Given the description of an element on the screen output the (x, y) to click on. 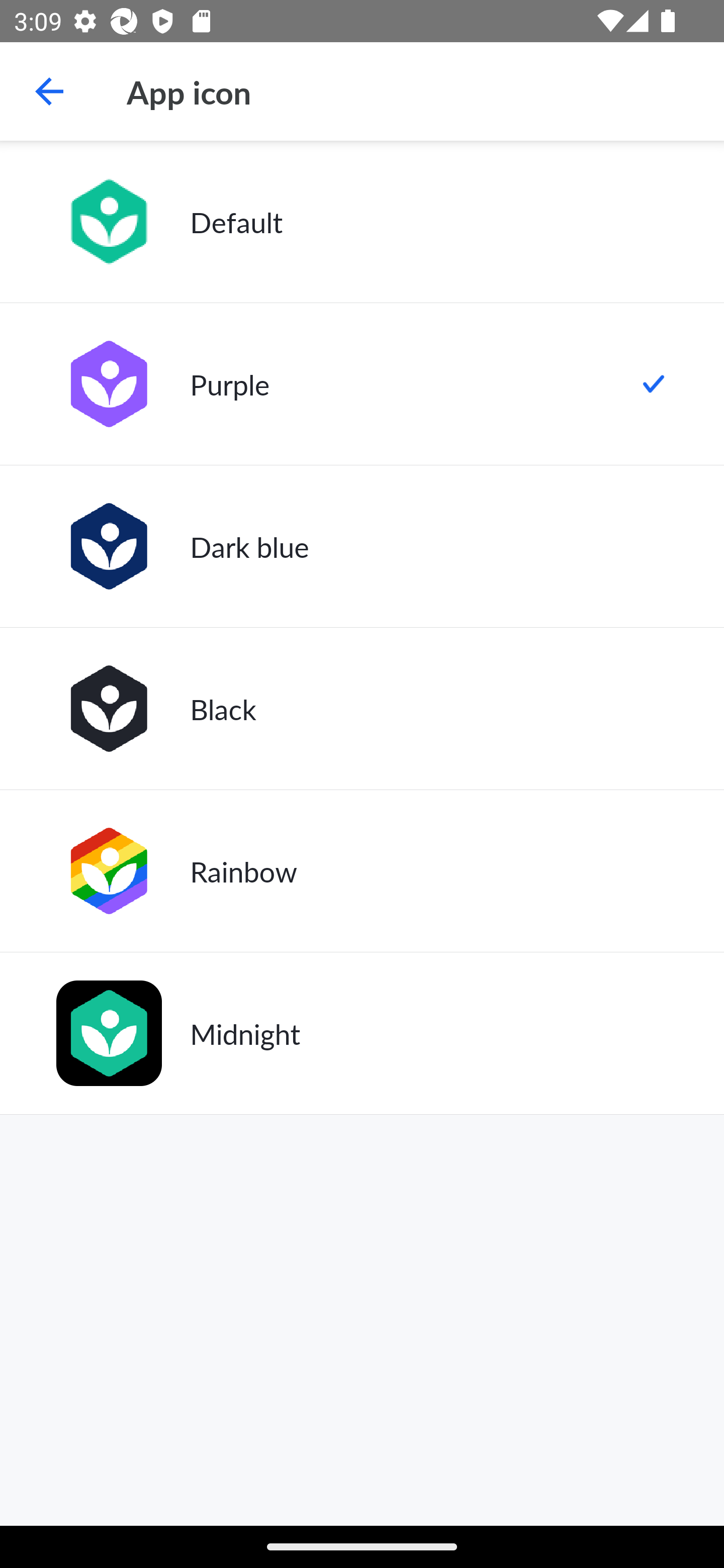
Navigate up (49, 91)
Default (362, 221)
Purple Checkmark (362, 383)
Dark blue (362, 546)
Black (362, 708)
Rainbow (362, 870)
Midnight (362, 1032)
